Given the description of an element on the screen output the (x, y) to click on. 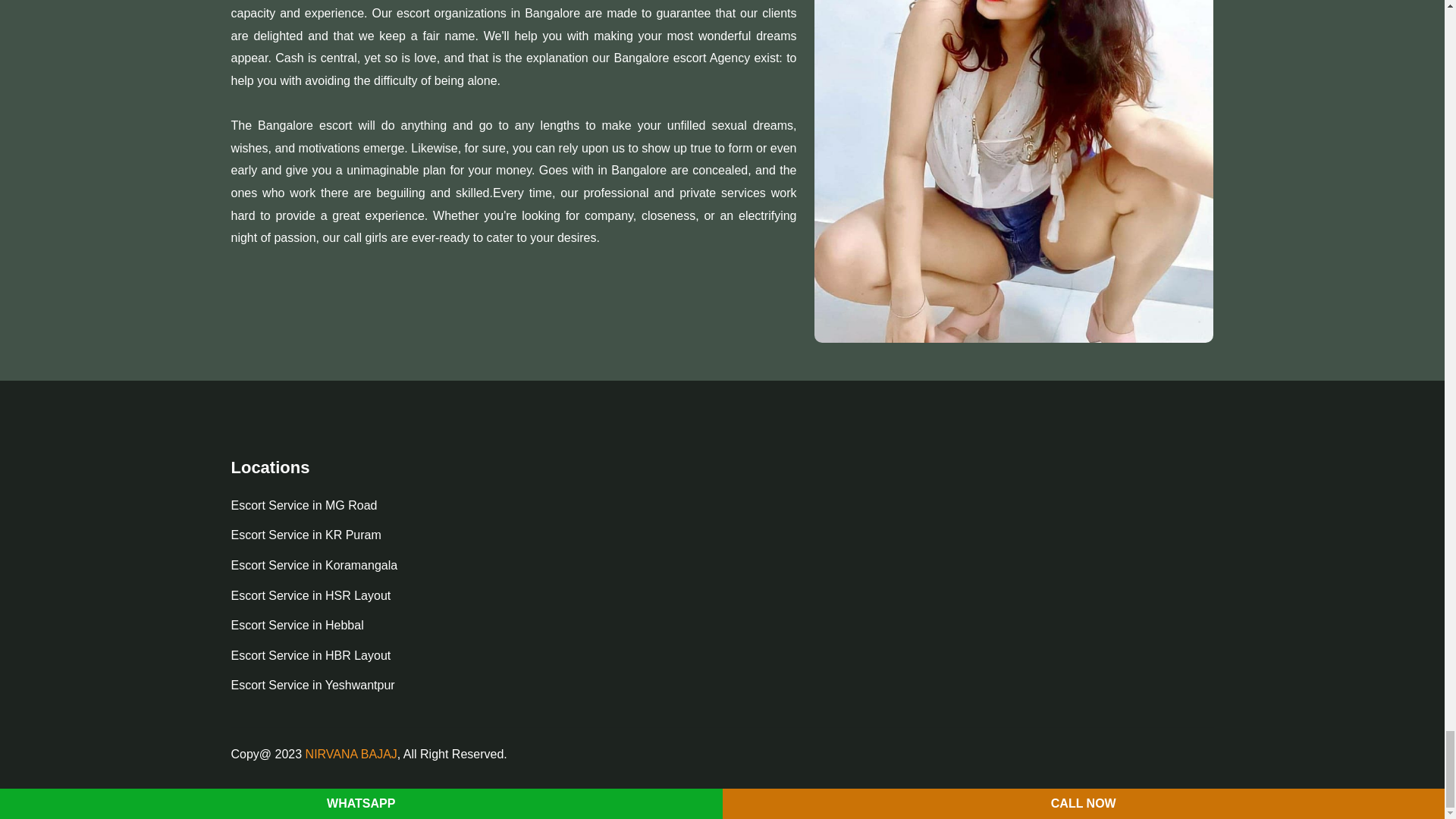
Escort Service in MG Road (303, 505)
Escort Service in Koramangala (313, 565)
Escort Service in KR Puram (305, 535)
